Given the description of an element on the screen output the (x, y) to click on. 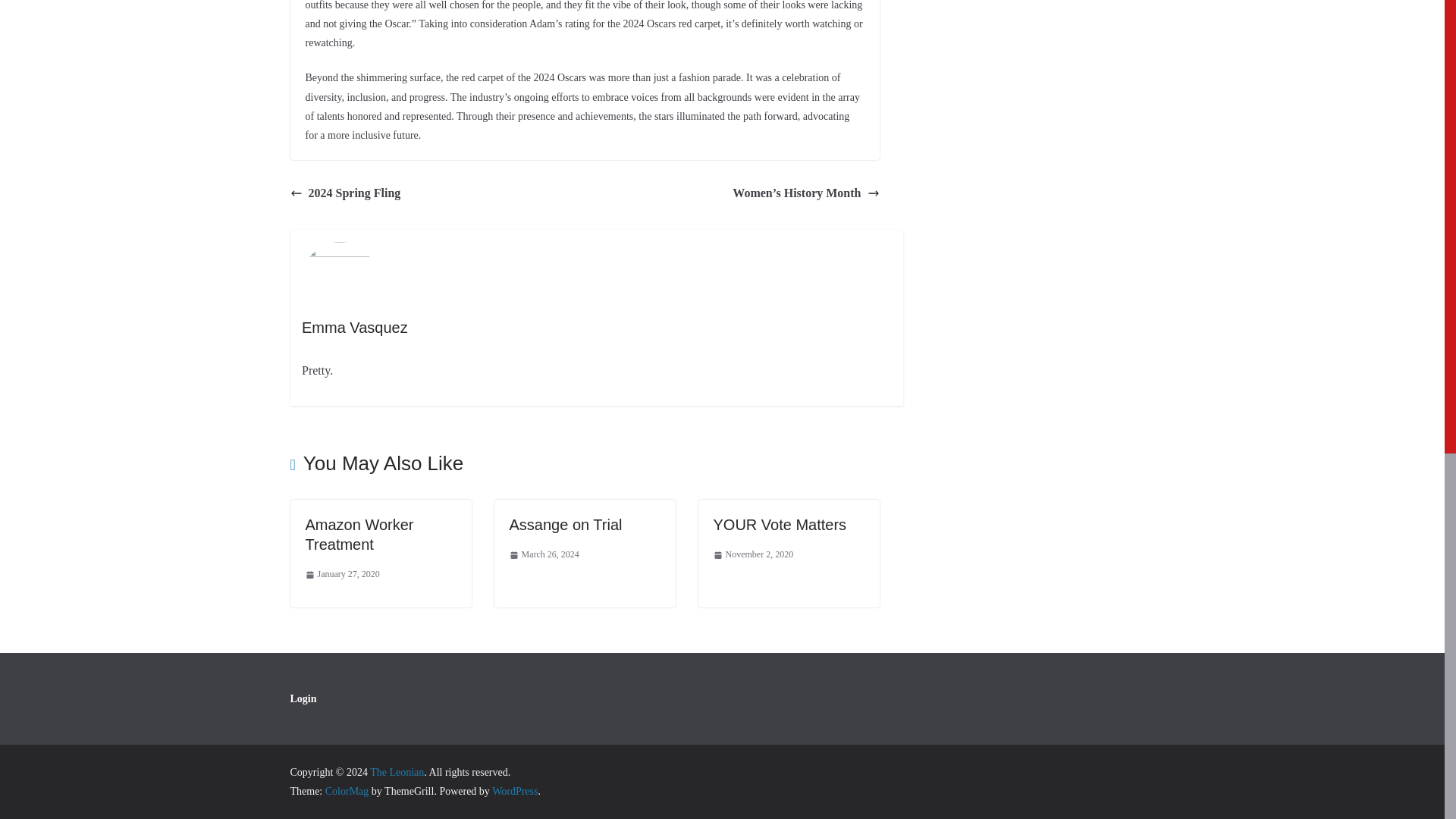
Assange on Trial (566, 524)
The Leonian (396, 772)
Amazon Worker Treatment (358, 534)
2024 Spring Fling (344, 193)
January 27, 2020 (341, 574)
Login (302, 697)
11:43 am (341, 574)
November 2, 2020 (753, 555)
ColorMag (346, 790)
The Leonian (396, 772)
